Given the description of an element on the screen output the (x, y) to click on. 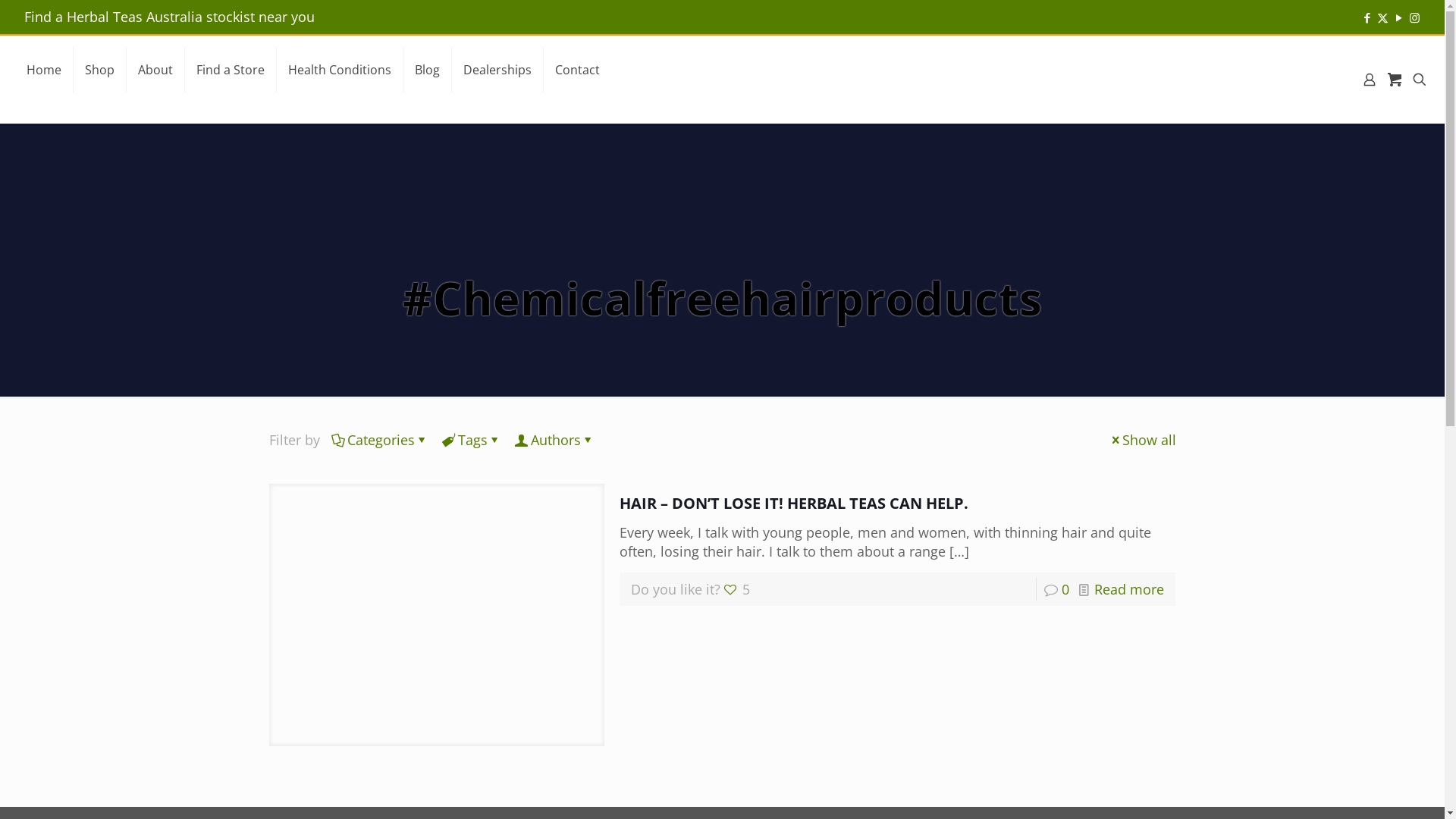
Blog Element type: text (427, 69)
5 Element type: text (736, 588)
Shop Element type: text (99, 69)
Categories Element type: text (379, 439)
Find a Store Element type: text (230, 69)
Read more Element type: text (1129, 589)
Health Conditions Element type: text (339, 69)
Show all Element type: text (1142, 439)
Contact Element type: text (577, 69)
Home Element type: text (44, 69)
YouTube Element type: hover (1398, 17)
About Element type: text (155, 69)
X (Twitter) Element type: hover (1382, 17)
Dealerships Element type: text (497, 69)
Tags Element type: text (471, 439)
Authors Element type: text (555, 439)
0 Element type: text (1065, 589)
Facebook Element type: hover (1366, 17)
Instagram Element type: hover (1414, 17)
Find a Herbal Teas Australia stockist near you Element type: text (169, 16)
